Given the description of an element on the screen output the (x, y) to click on. 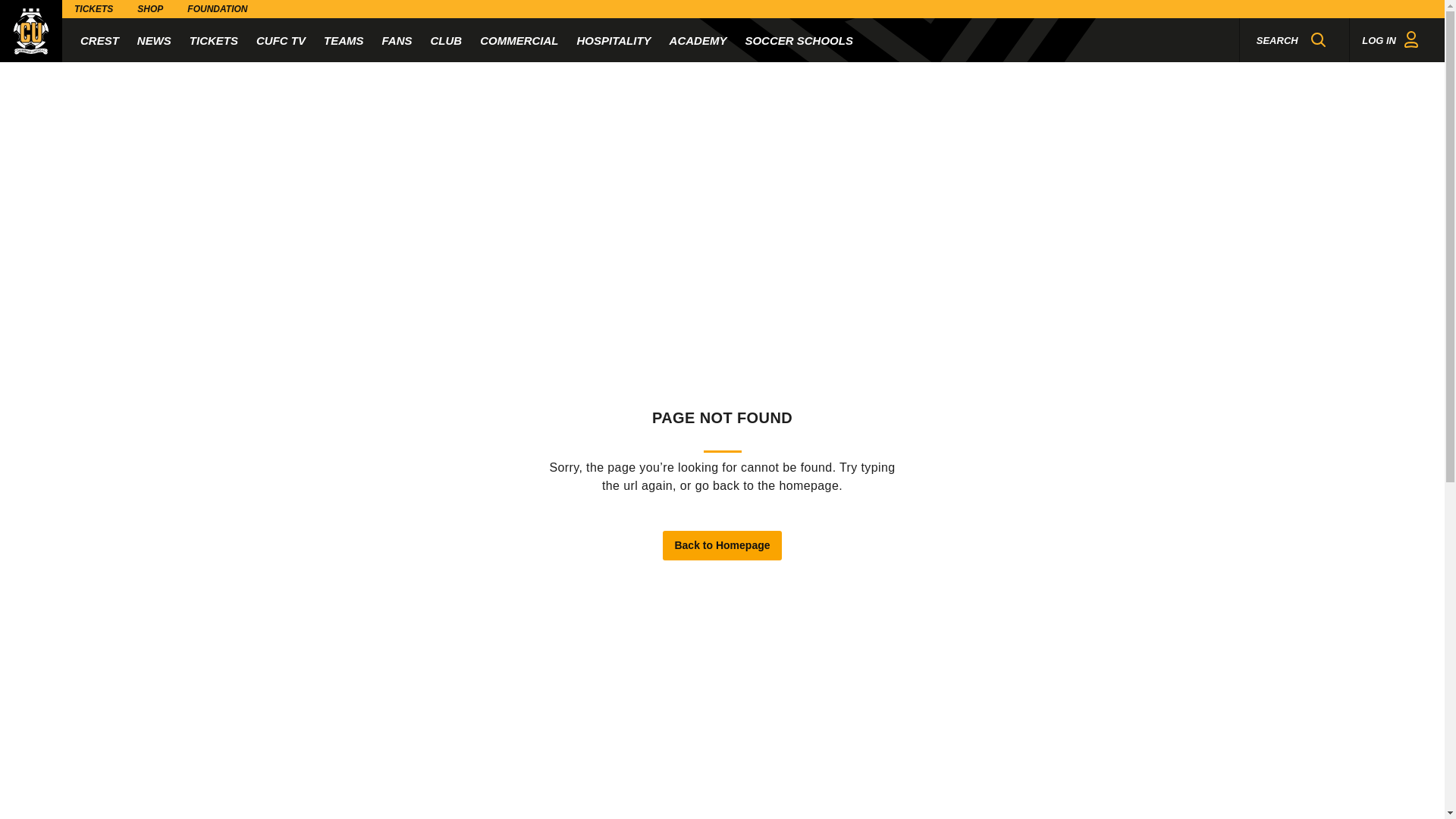
FOUNDATION (216, 9)
TICKETS (213, 40)
Commerical opportunities at Cambridge United (518, 40)
SHOP (149, 9)
Back to home (31, 31)
TEAMS (343, 40)
TICKETS (93, 9)
CUFC TV (280, 40)
